Given the description of an element on the screen output the (x, y) to click on. 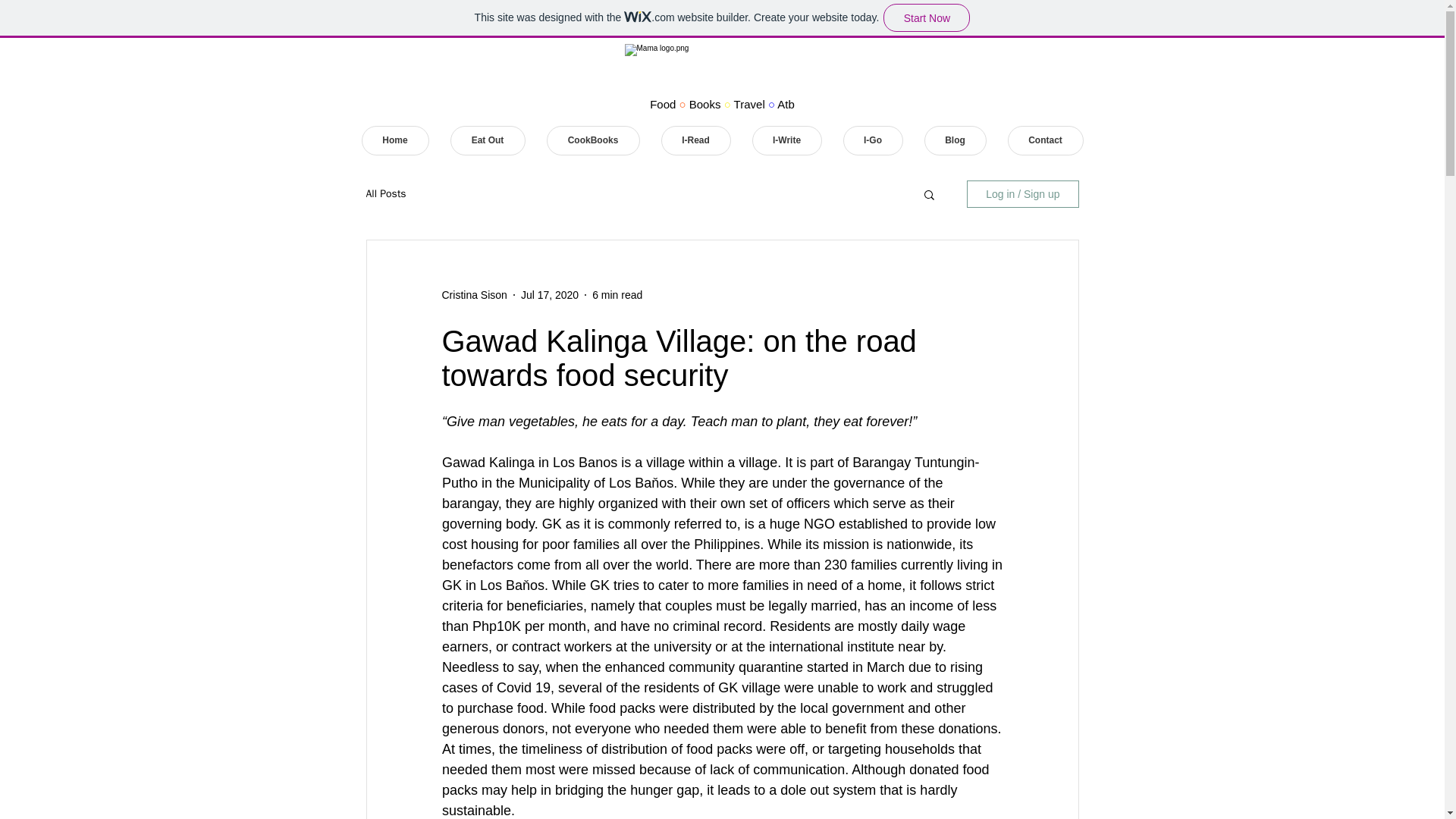
6 min read (617, 294)
All Posts (385, 193)
Eat Out (487, 140)
Contact (1045, 140)
I-Read (695, 140)
I-Write (787, 140)
I-Go (872, 140)
CookBooks (592, 140)
Jul 17, 2020 (549, 294)
Blog (954, 140)
